Given the description of an element on the screen output the (x, y) to click on. 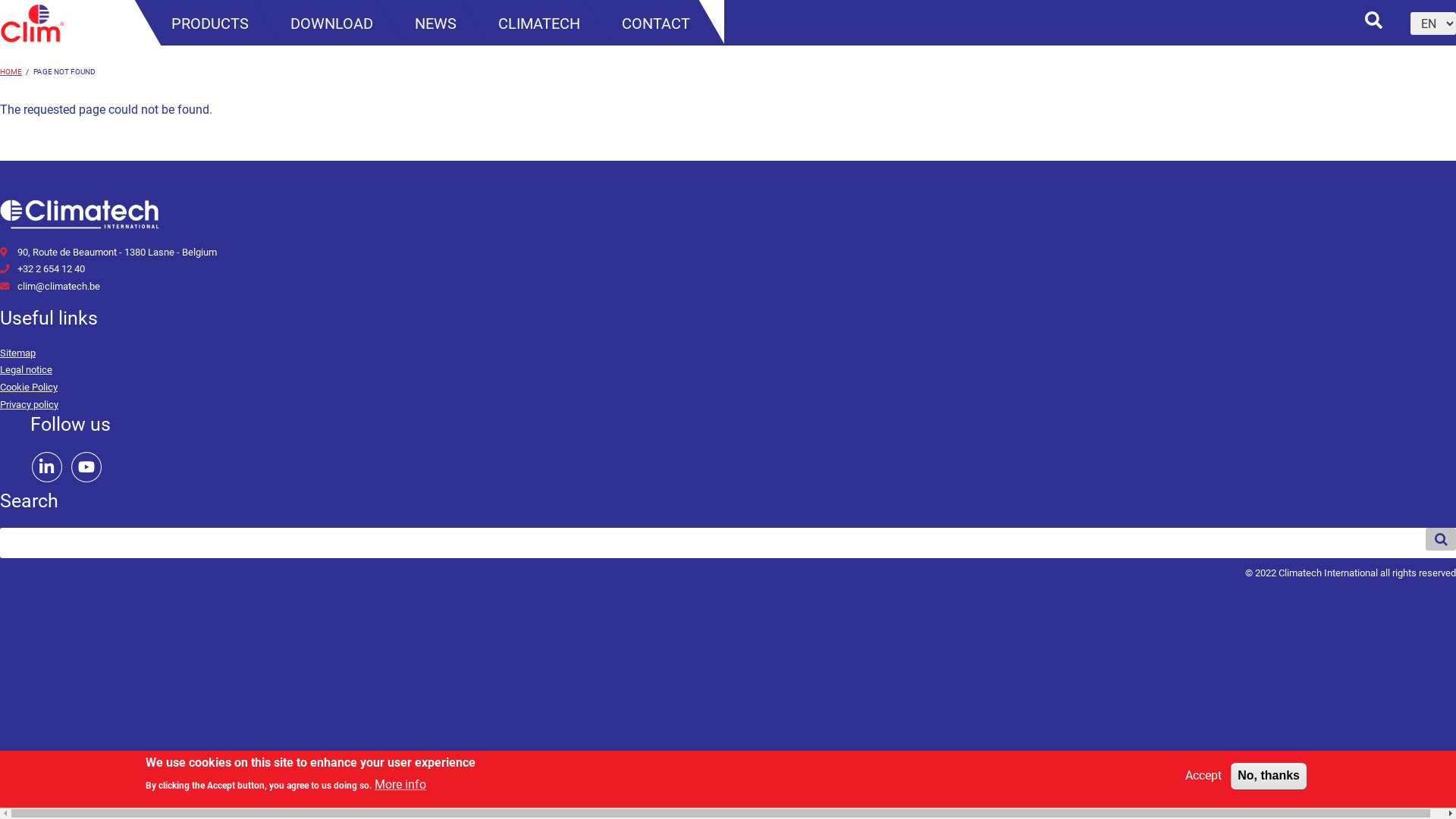
Skip to main content Element type: text (0, 0)
Accept Element type: text (1203, 775)
CONTACT Element type: text (655, 23)
NEWS Element type: text (435, 23)
PRODUCTS Element type: text (209, 23)
Home Element type: hover (32, 38)
More info Element type: text (400, 784)
Sitemap Element type: text (17, 352)
Cookie Policy Element type: text (28, 386)
Legal notice Element type: text (26, 369)
HOME Element type: text (10, 71)
No, thanks Element type: text (1268, 775)
CLIMATECH Element type: text (538, 23)
DOWNLOAD Element type: text (331, 23)
Privacy policy Element type: text (29, 404)
